Given the description of an element on the screen output the (x, y) to click on. 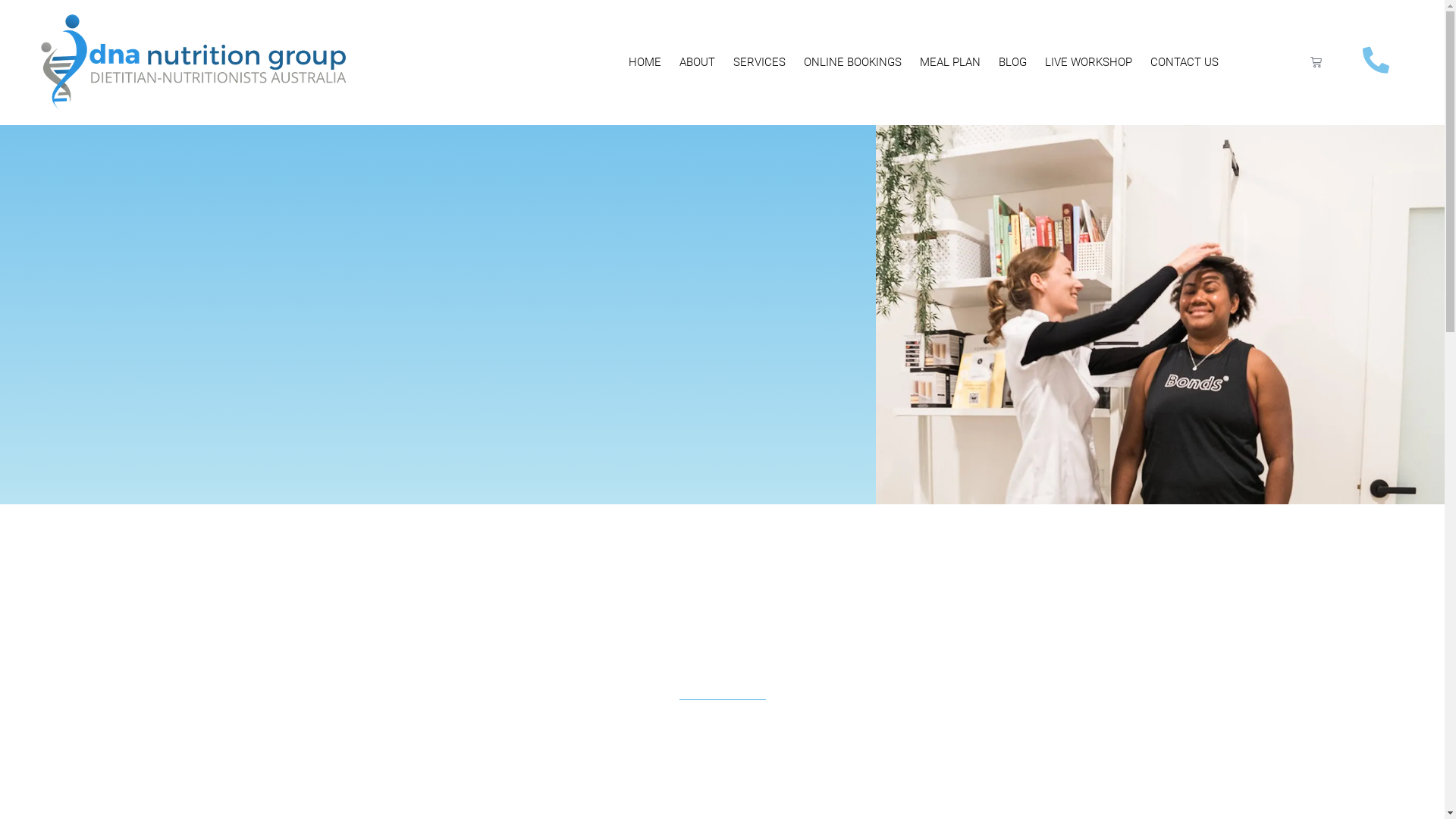
MEAL PLAN Element type: text (949, 61)
LIVE WORKSHOP Element type: text (1088, 61)
ONLINE BOOKINGS Element type: text (852, 61)
ABOUT Element type: text (697, 61)
CONTACT US Element type: text (1184, 61)
SERVICES Element type: text (759, 61)
BLOG Element type: text (1012, 61)
HOME Element type: text (644, 61)
